Given the description of an element on the screen output the (x, y) to click on. 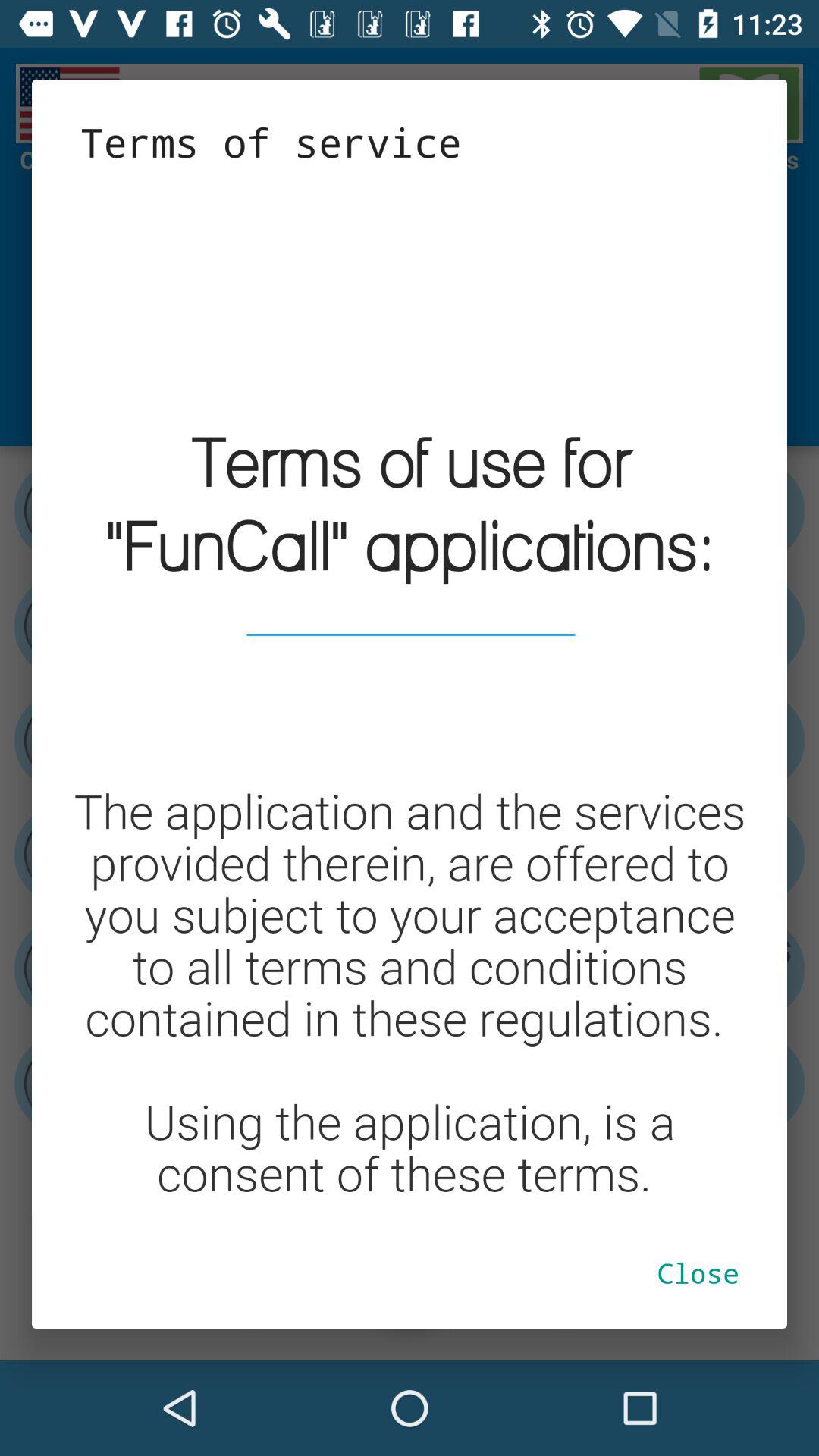
jump until close item (698, 1272)
